Given the description of an element on the screen output the (x, y) to click on. 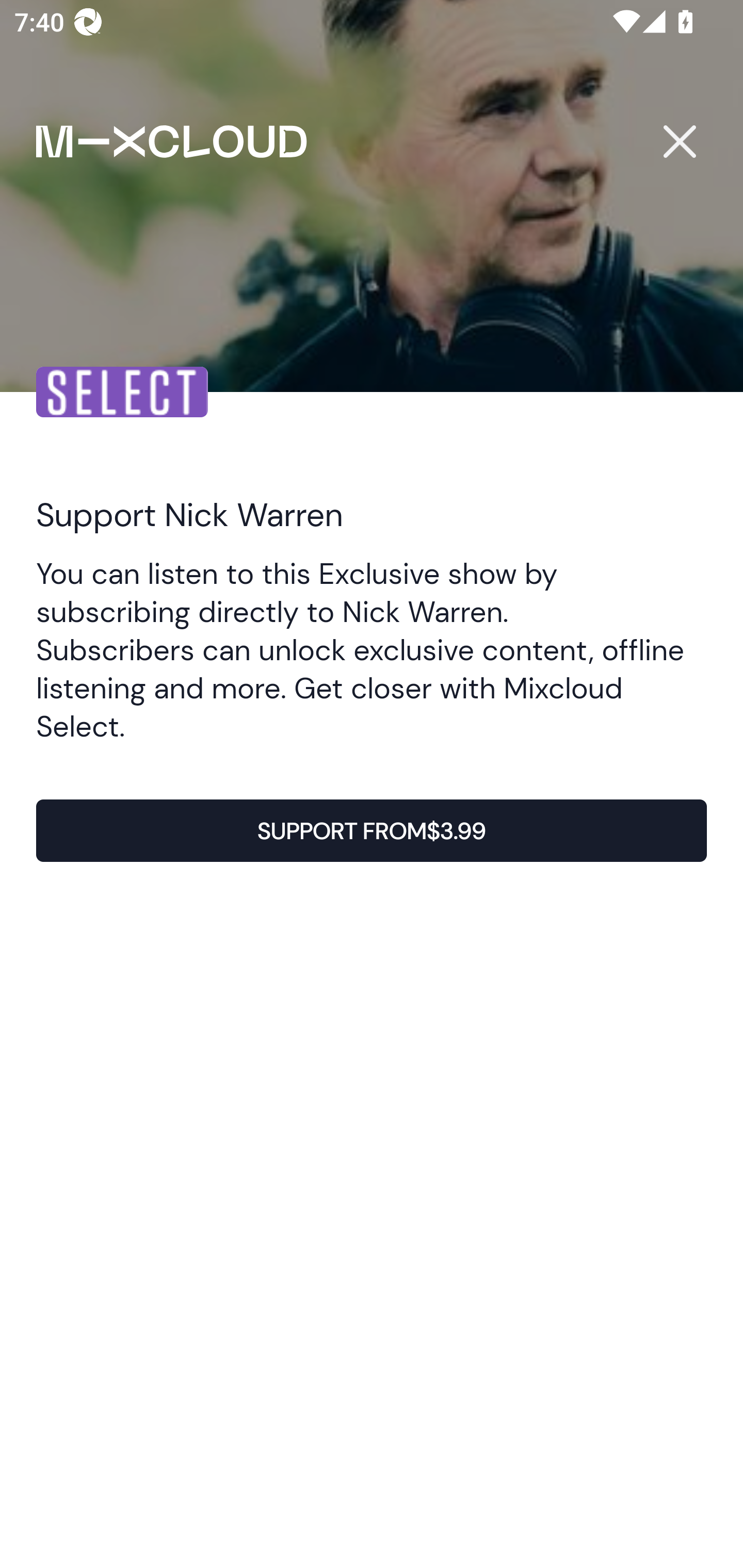
Close popup button (679, 141)
SUPPORT FROM$3.99 (371, 830)
